Given the description of an element on the screen output the (x, y) to click on. 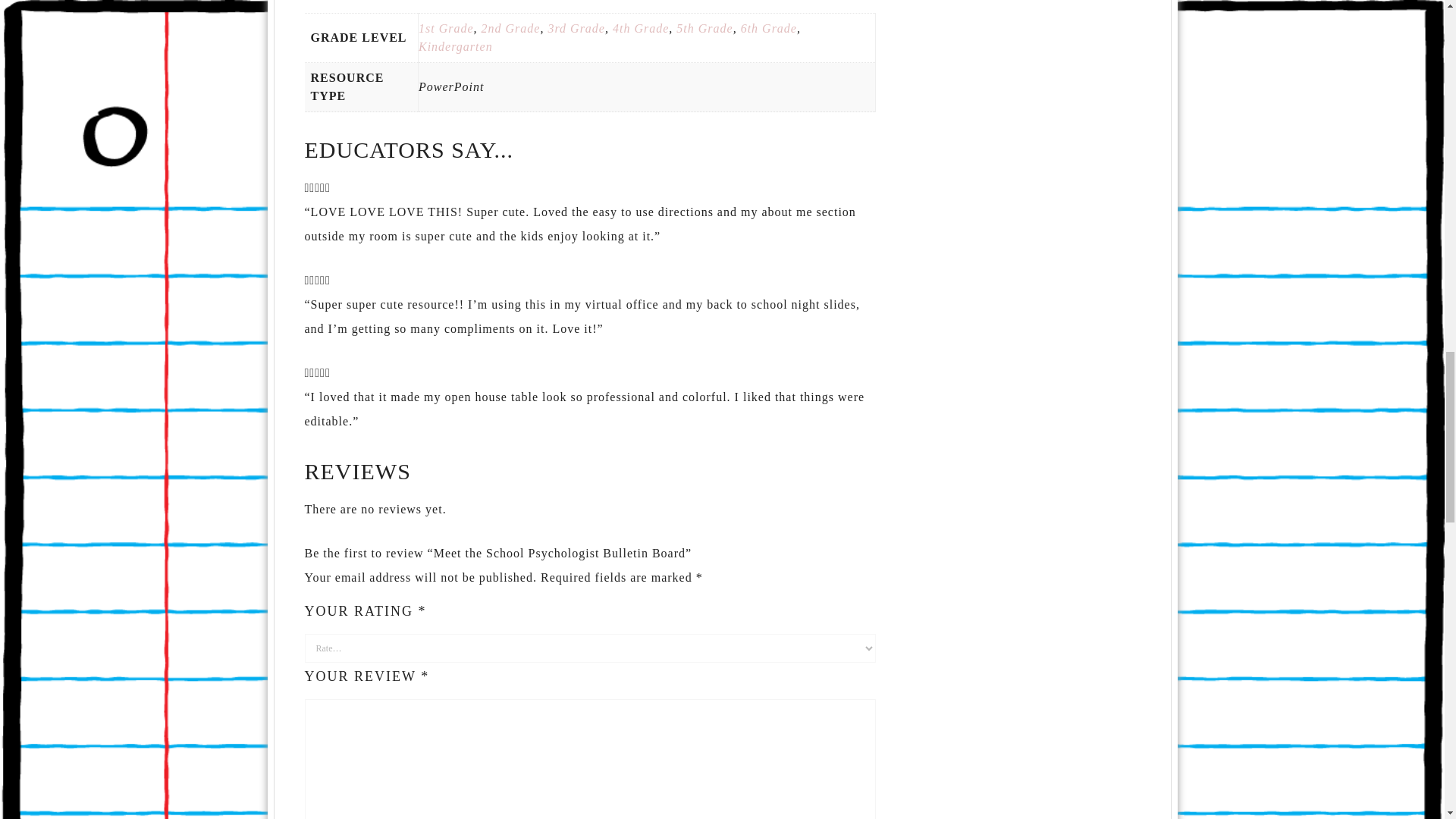
6th Grade (768, 28)
4th Grade (640, 28)
1st Grade (446, 28)
5th Grade (704, 28)
3rd Grade (576, 28)
2nd Grade (510, 28)
Kindergarten (456, 46)
